Given the description of an element on the screen output the (x, y) to click on. 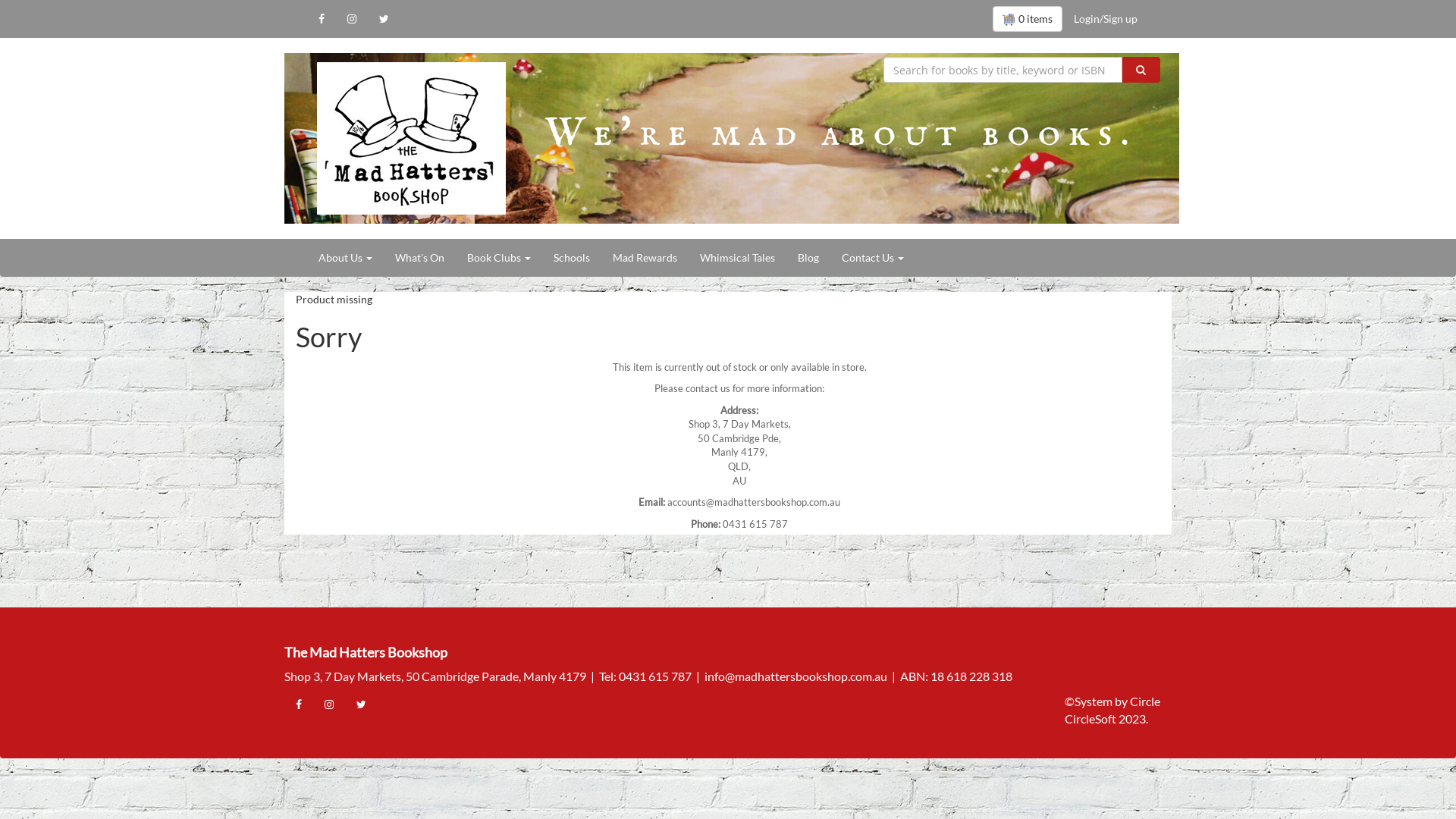
What's On Element type: text (419, 257)
accounts@madhattersbookshop.com.au Element type: text (753, 501)
Whimsical Tales Element type: text (737, 257)
info@madhattersbookshop.com.au Element type: text (795, 675)
Book Clubs  Element type: text (498, 257)
Mad Rewards Element type: text (644, 257)
0 items Element type: text (1027, 18)
About Us  Element type: text (345, 257)
Schools Element type: text (571, 257)
System by Circle Element type: text (1117, 701)
Contact Us  Element type: text (872, 257)
0 items Element type: text (1027, 18)
Login/Sign up Element type: text (1105, 18)
Blog Element type: text (808, 257)
